Given the description of an element on the screen output the (x, y) to click on. 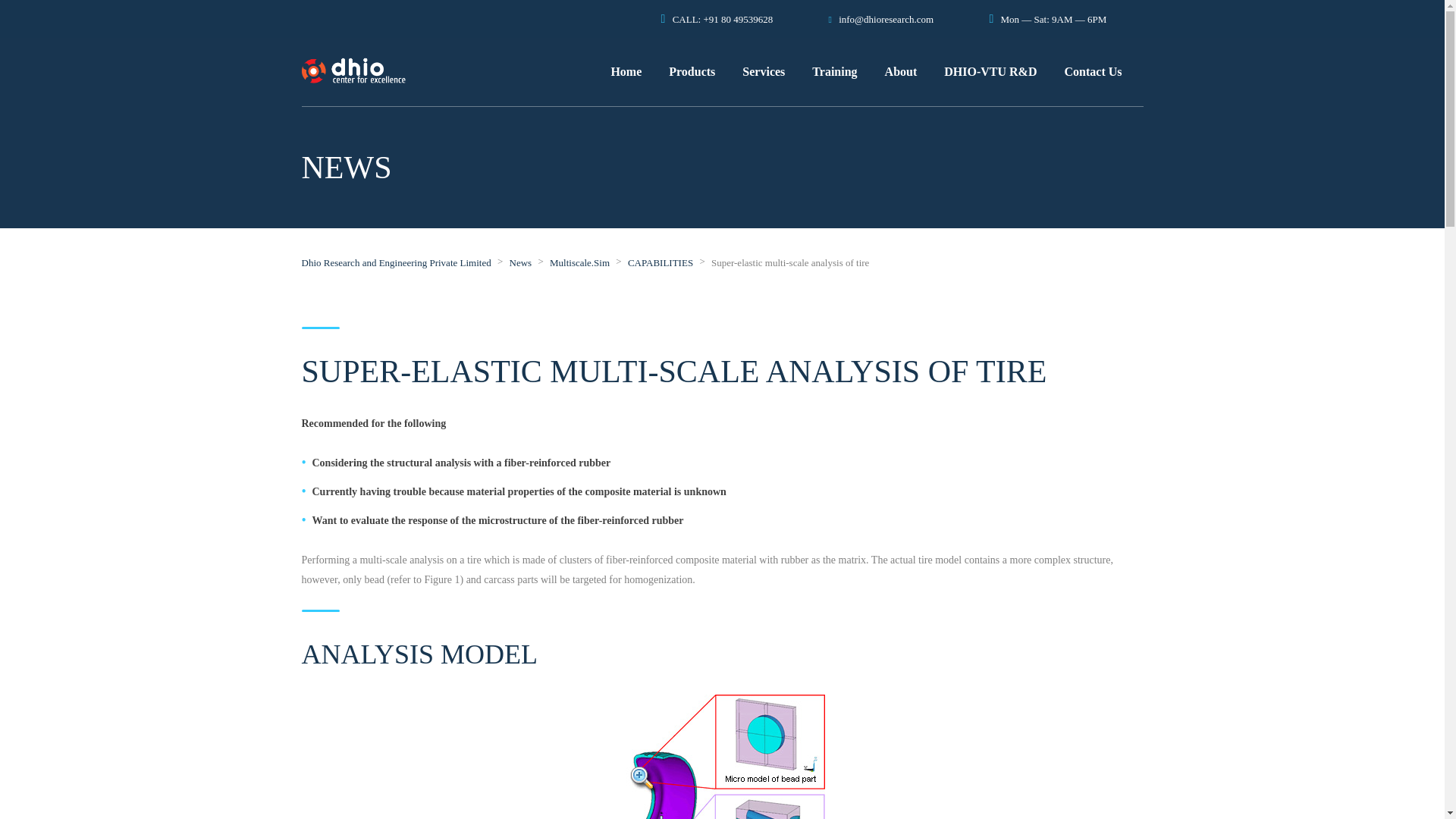
Go to News. (520, 262)
Go to the Multiscale.Sim category archives. (580, 262)
Go to Dhio Research and Engineering Private Limited. (396, 262)
Go to the CAPABILITIES category archives. (660, 262)
